Given the description of an element on the screen output the (x, y) to click on. 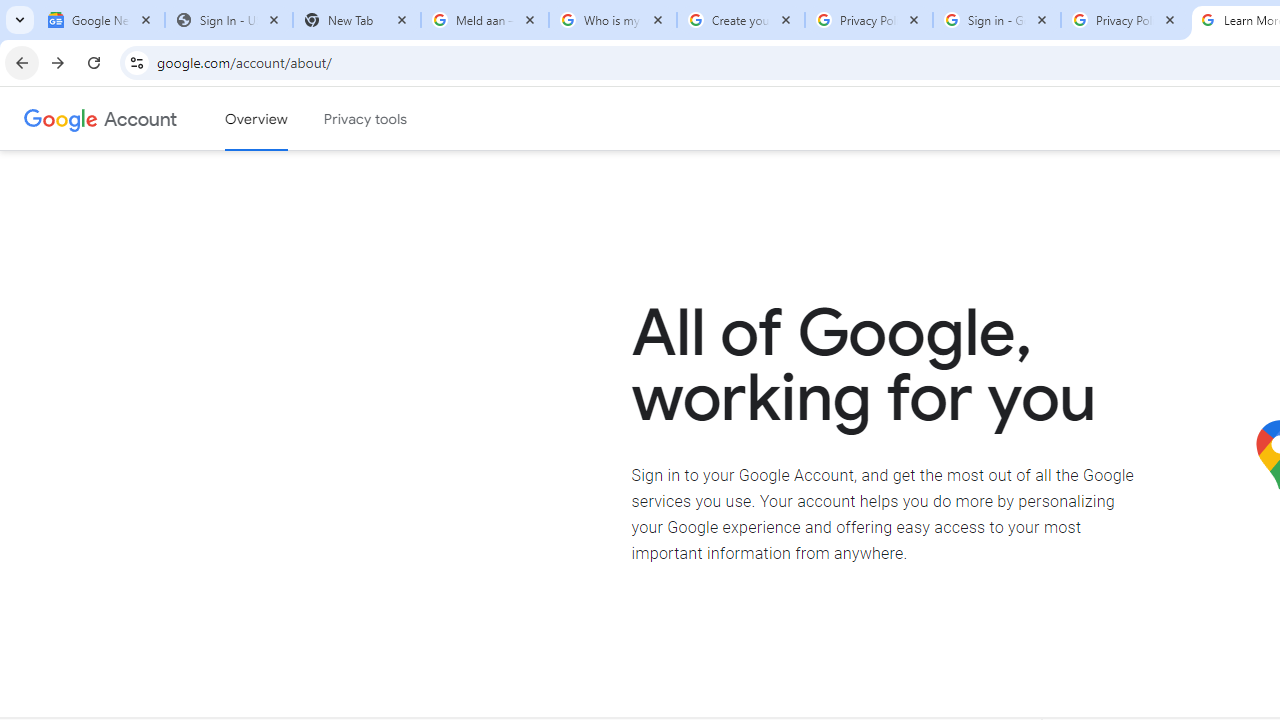
Google Account (140, 118)
Create your Google Account (741, 20)
Google News (101, 20)
Who is my administrator? - Google Account Help (613, 20)
